Given the description of an element on the screen output the (x, y) to click on. 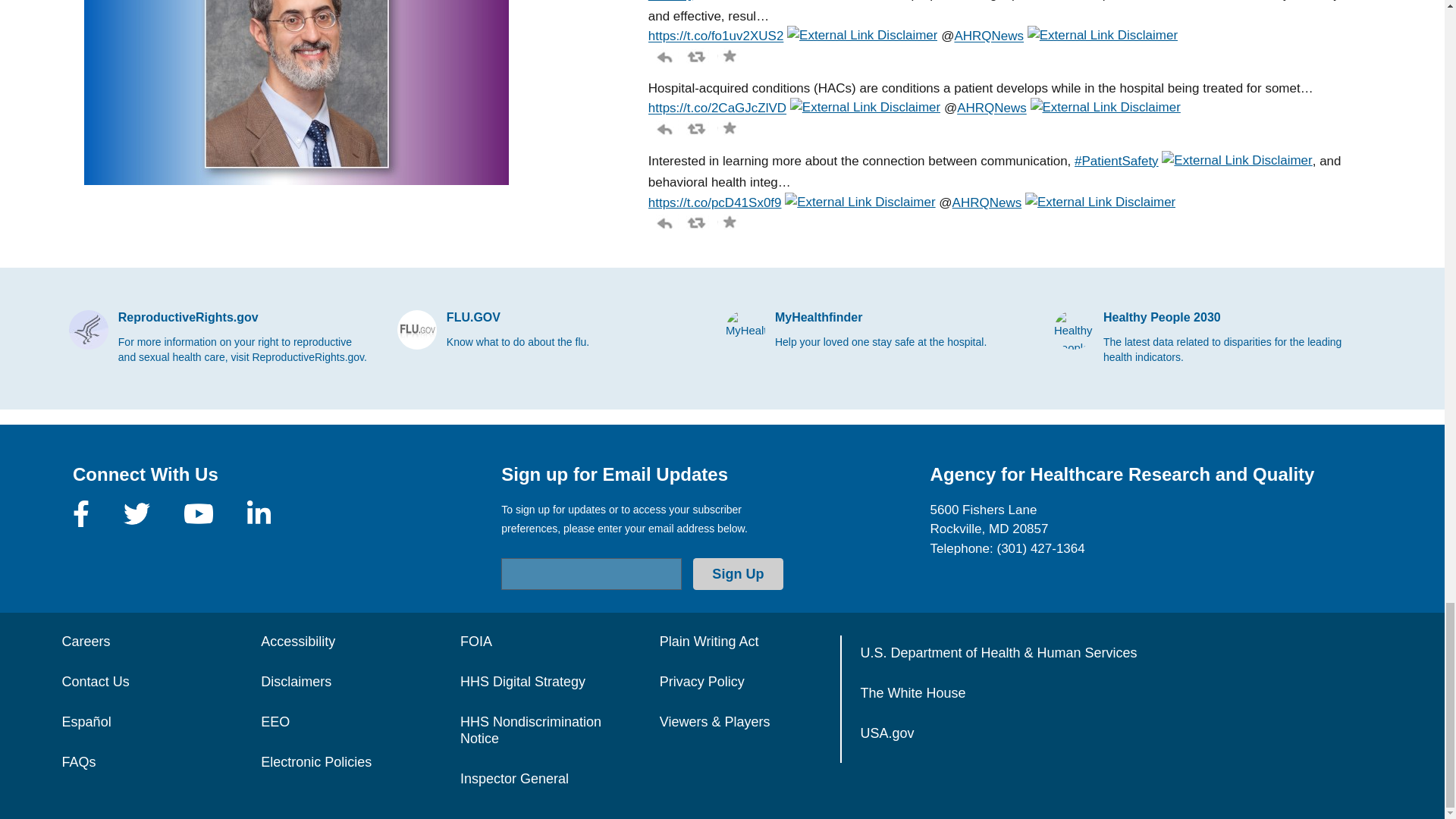
External Link Disclaimer (1102, 36)
Sign Up (738, 573)
External Link Disclaimer (865, 108)
External Link Disclaimer (770, 3)
External Link Disclaimer (862, 36)
